Given the description of an element on the screen output the (x, y) to click on. 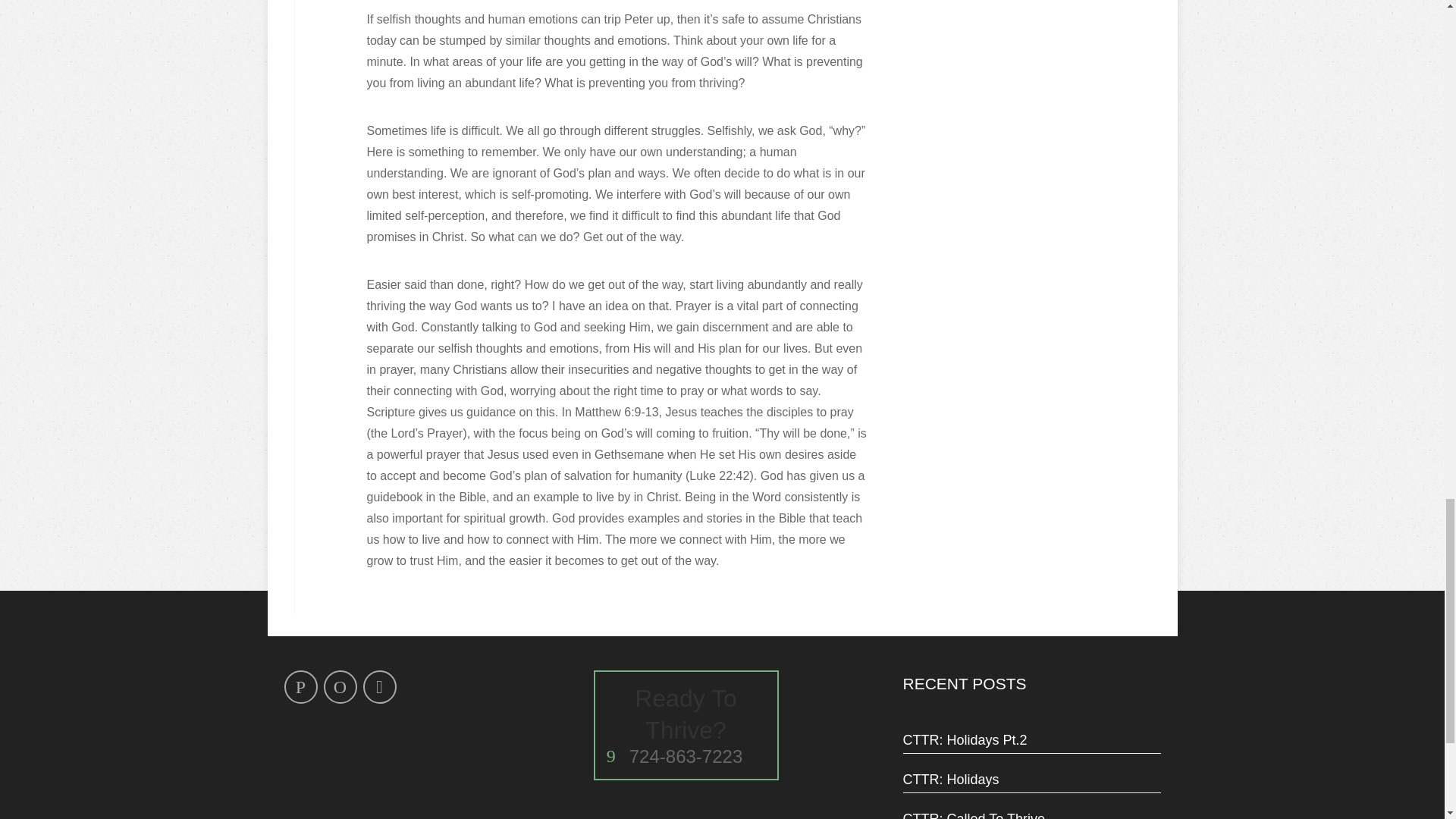
CTTR: Holidays (1031, 779)
CTTR: Holidays Pt.2 (685, 725)
CTTR: Called To Thrive (1031, 739)
